Given the description of an element on the screen output the (x, y) to click on. 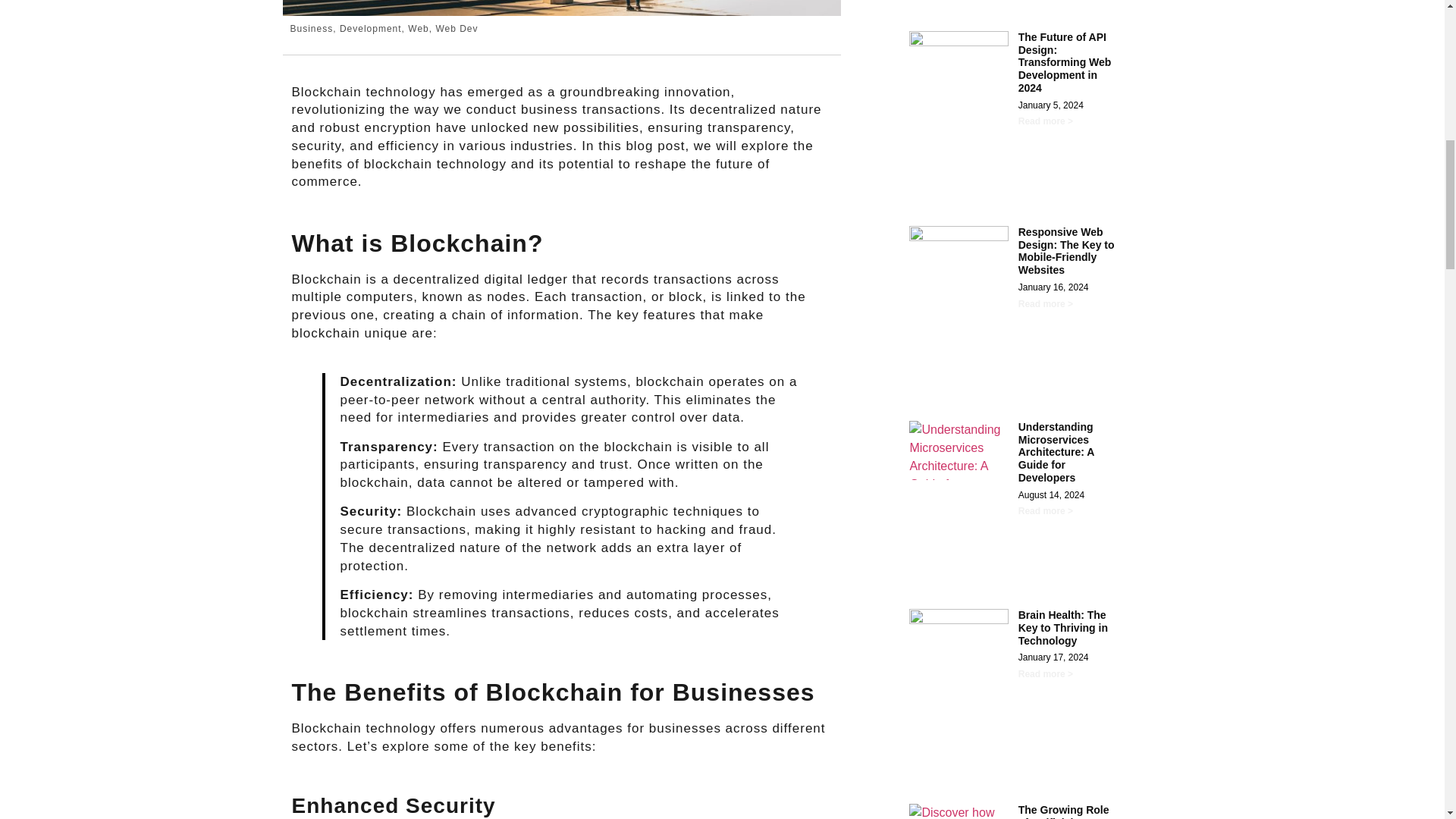
Web Dev (456, 28)
Web (417, 28)
Business (311, 28)
Development (370, 28)
